Given the description of an element on the screen output the (x, y) to click on. 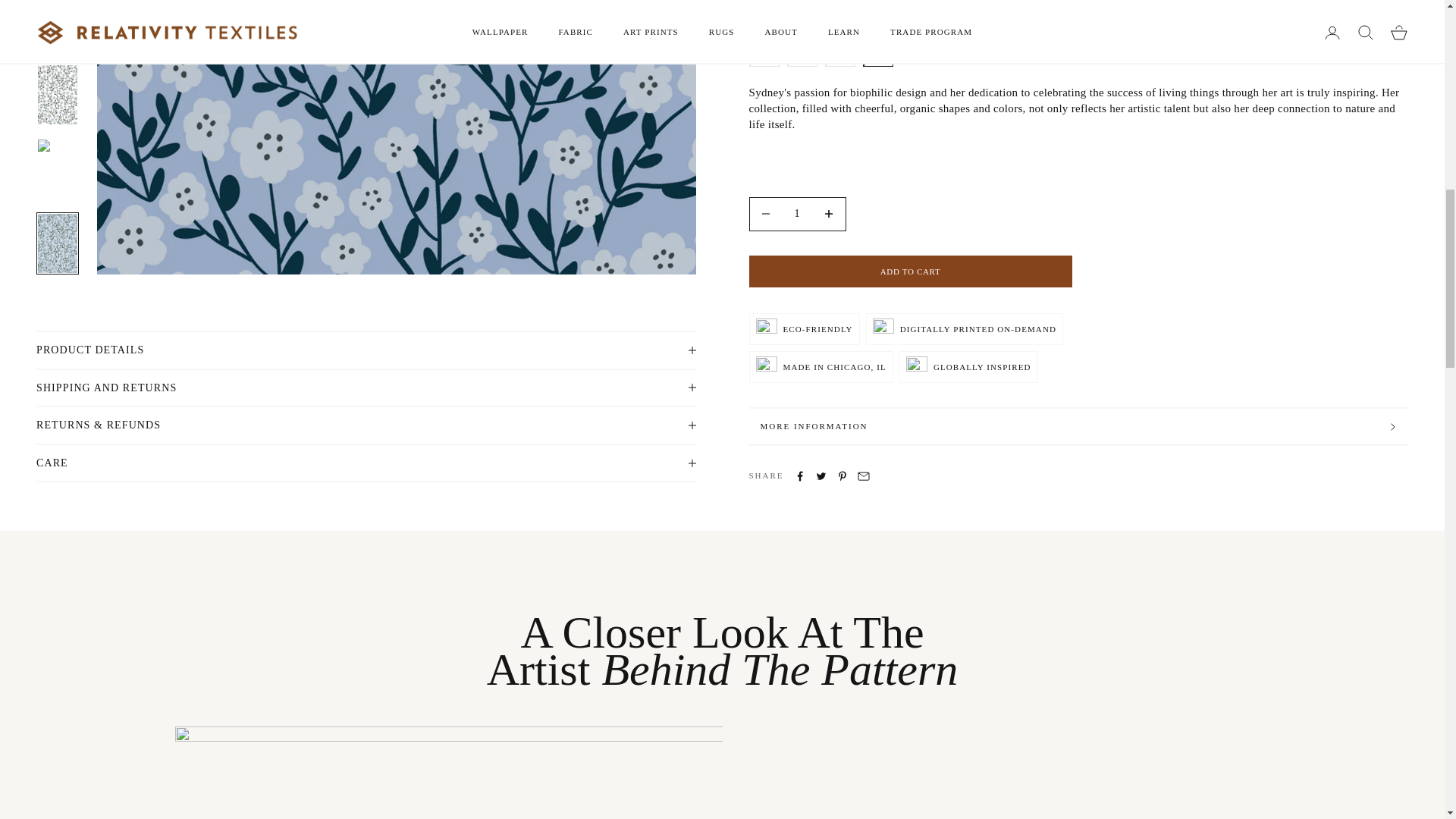
1 (797, 4)
